Given the description of an element on the screen output the (x, y) to click on. 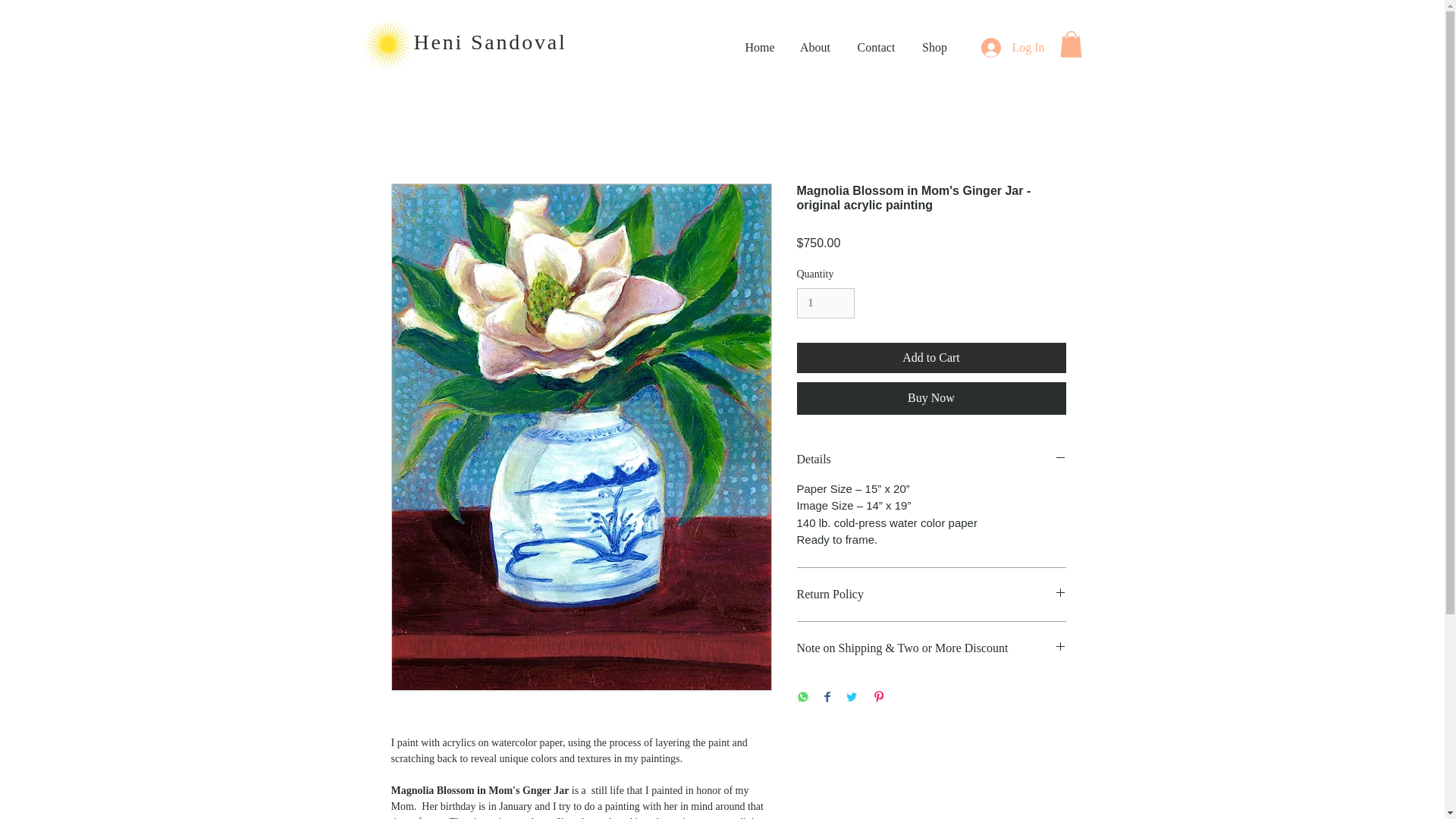
Home (759, 47)
Log In (1012, 47)
Contact (876, 47)
1 (824, 303)
Shop (934, 47)
Add to Cart (930, 358)
Details (930, 459)
Buy Now (930, 398)
Return Policy (930, 594)
About (815, 47)
